Given the description of an element on the screen output the (x, y) to click on. 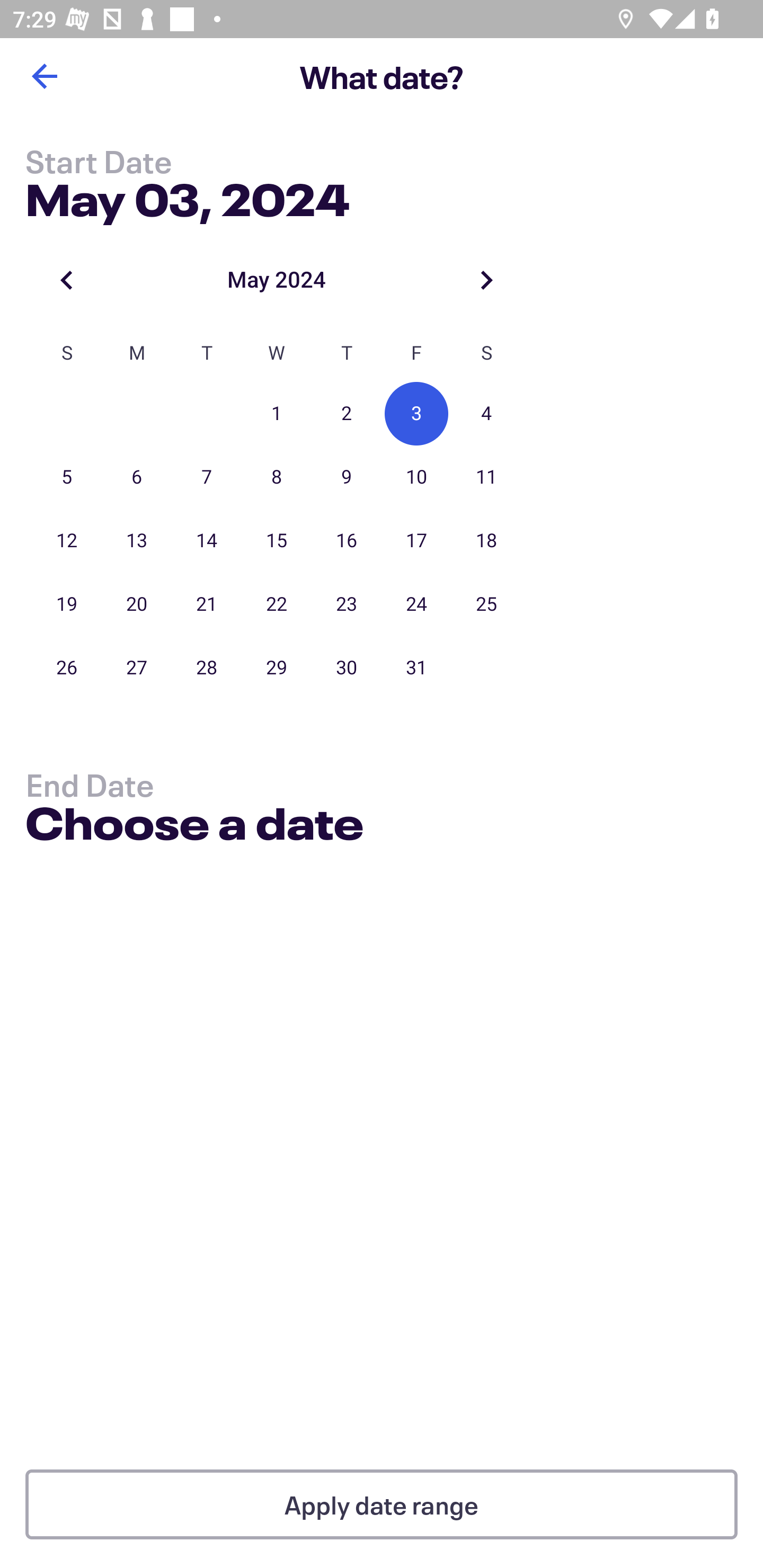
Back button (44, 75)
May 03, 2024 (187, 195)
Previous month (66, 279)
Next month (486, 279)
1 01 May 2024 (276, 413)
2 02 May 2024 (346, 413)
3 03 May 2024 (416, 413)
4 04 May 2024 (486, 413)
5 05 May 2024 (66, 477)
6 06 May 2024 (136, 477)
7 07 May 2024 (206, 477)
8 08 May 2024 (276, 477)
9 09 May 2024 (346, 477)
10 10 May 2024 (416, 477)
11 11 May 2024 (486, 477)
12 12 May 2024 (66, 540)
13 13 May 2024 (136, 540)
14 14 May 2024 (206, 540)
15 15 May 2024 (276, 540)
16 16 May 2024 (346, 540)
17 17 May 2024 (416, 540)
18 18 May 2024 (486, 540)
19 19 May 2024 (66, 604)
20 20 May 2024 (136, 604)
21 21 May 2024 (206, 604)
22 22 May 2024 (276, 604)
23 23 May 2024 (346, 604)
24 24 May 2024 (416, 604)
25 25 May 2024 (486, 604)
26 26 May 2024 (66, 667)
27 27 May 2024 (136, 667)
28 28 May 2024 (206, 667)
29 29 May 2024 (276, 667)
30 30 May 2024 (346, 667)
31 31 May 2024 (416, 667)
Choose a date (194, 826)
Apply date range (381, 1504)
